Given the description of an element on the screen output the (x, y) to click on. 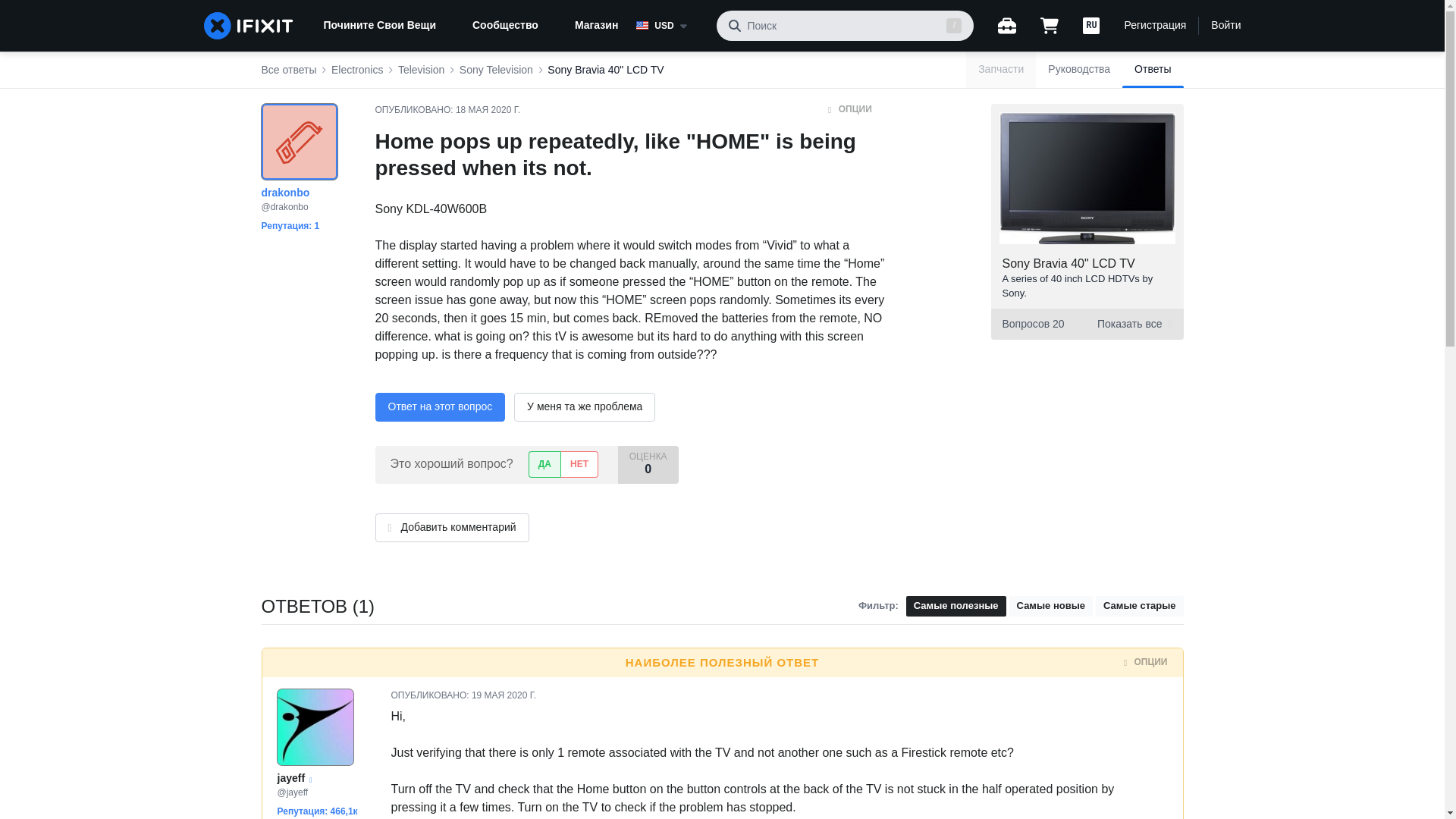
Tue, 19 May 2020 01:52:59 -0700 (503, 695)
Sony Bravia 40" LCD TV (1069, 263)
Electronics (356, 69)
USD (670, 25)
Sony Bravia 40" LCD TV (605, 69)
Mon, 18 May 2020 13:59:36 -0700 (487, 109)
Sony Television (496, 69)
Television (420, 69)
